Given the description of an element on the screen output the (x, y) to click on. 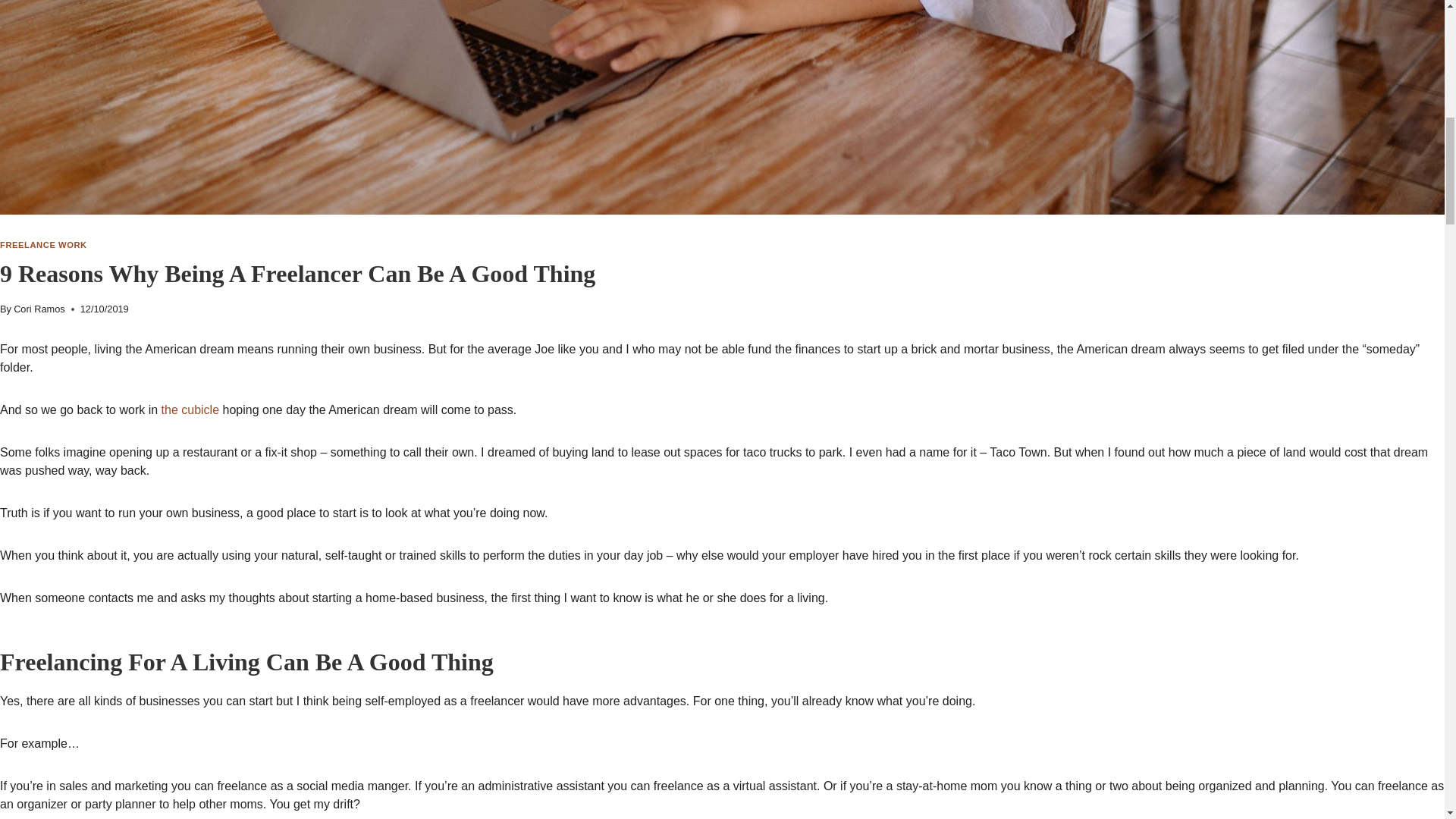
FREELANCE WORK (43, 244)
Cori Ramos (39, 308)
the cubicle (190, 409)
